Given the description of an element on the screen output the (x, y) to click on. 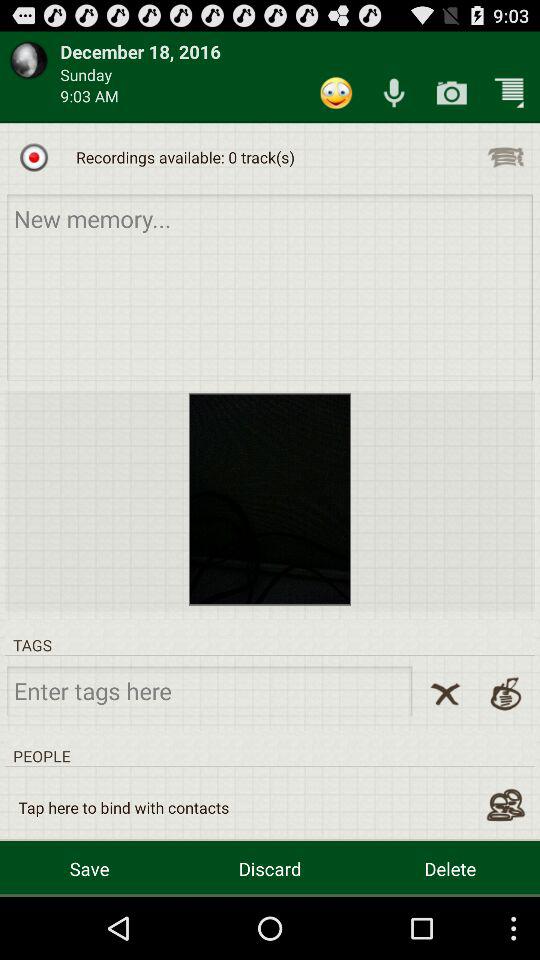
turn off item next to the recordings available 0 item (505, 157)
